Given the description of an element on the screen output the (x, y) to click on. 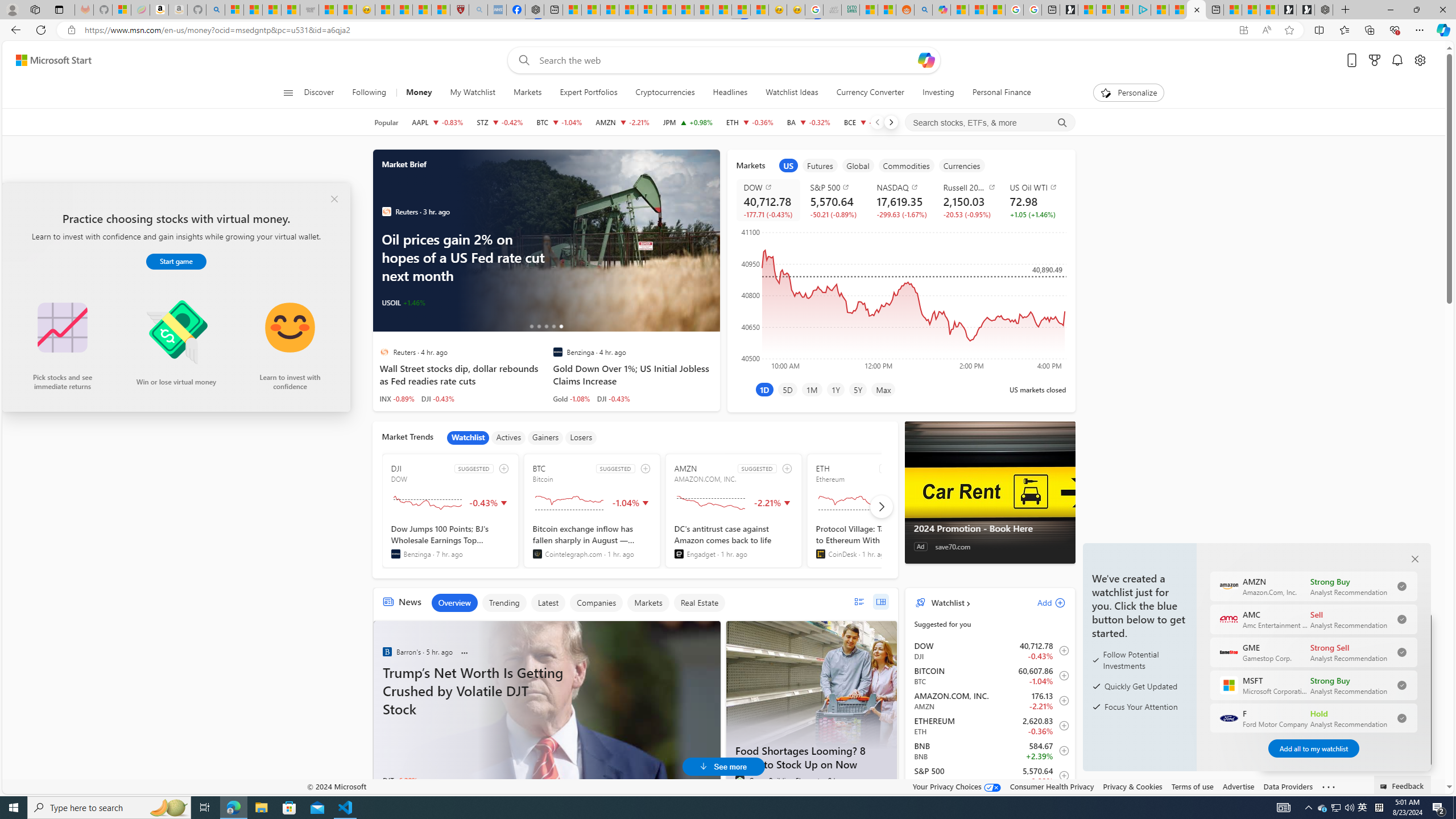
Terms of use (1192, 785)
Microsoft account | Privacy (1123, 9)
Advertise (1238, 786)
Advertise (1238, 785)
ETH Ethereum decrease 2,620.83 -9.43 -0.36% item3 (989, 725)
14 Common Myths Debunked By Scientific Facts (702, 9)
My Watchlist (472, 92)
BNB BNB increase 584.67 +13.99 +2.39% item4 (989, 750)
App bar (728, 29)
Data Providers (1288, 785)
DJI DOW decrease 40,712.78 -177.71 -0.43% item0 (989, 650)
AMZN AMAZON.COM, INC. decrease 176.13 -3.98 -2.21% item2 (989, 700)
